Given the description of an element on the screen output the (x, y) to click on. 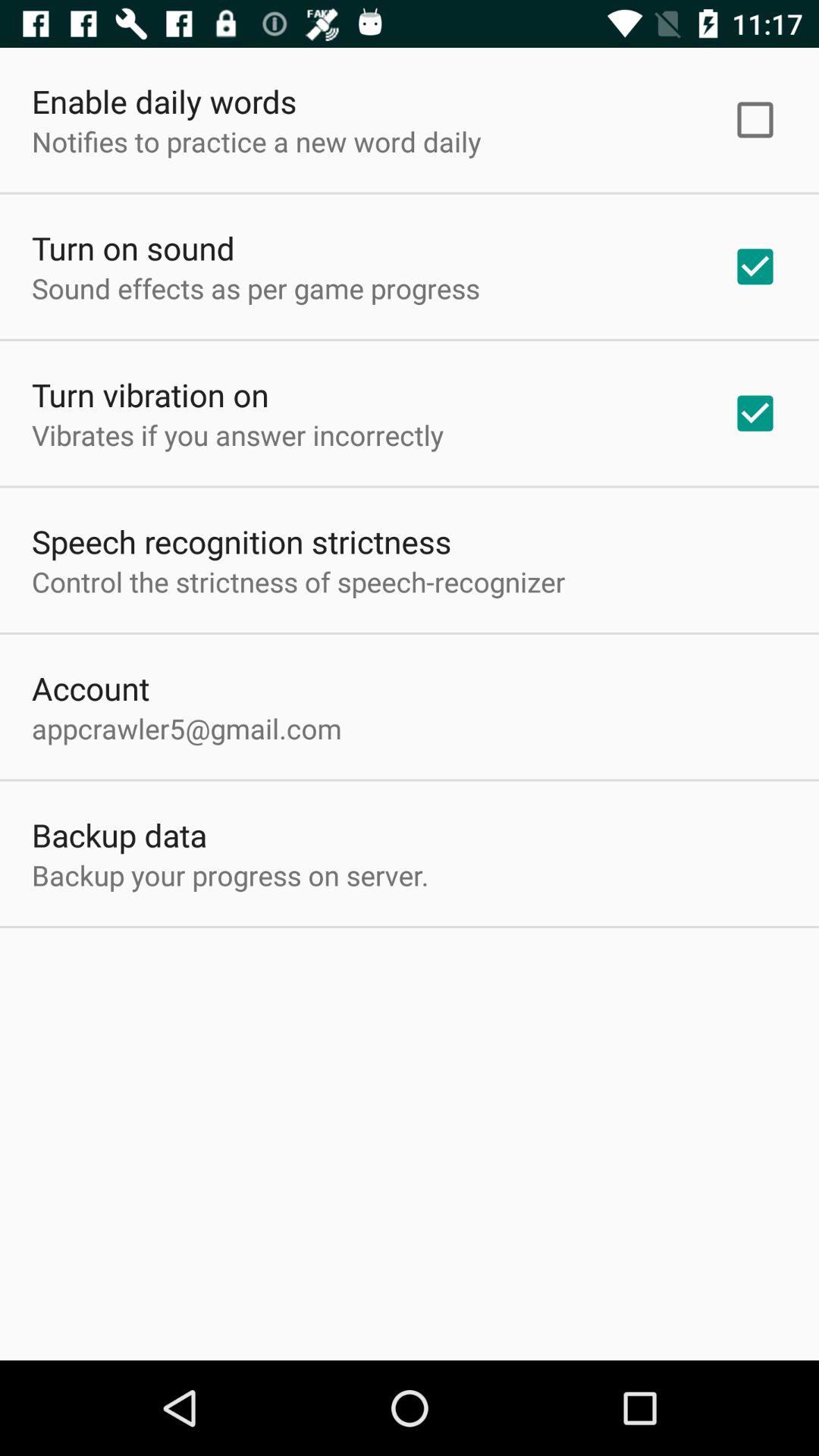
choose the item above the turn on sound item (256, 141)
